Given the description of an element on the screen output the (x, y) to click on. 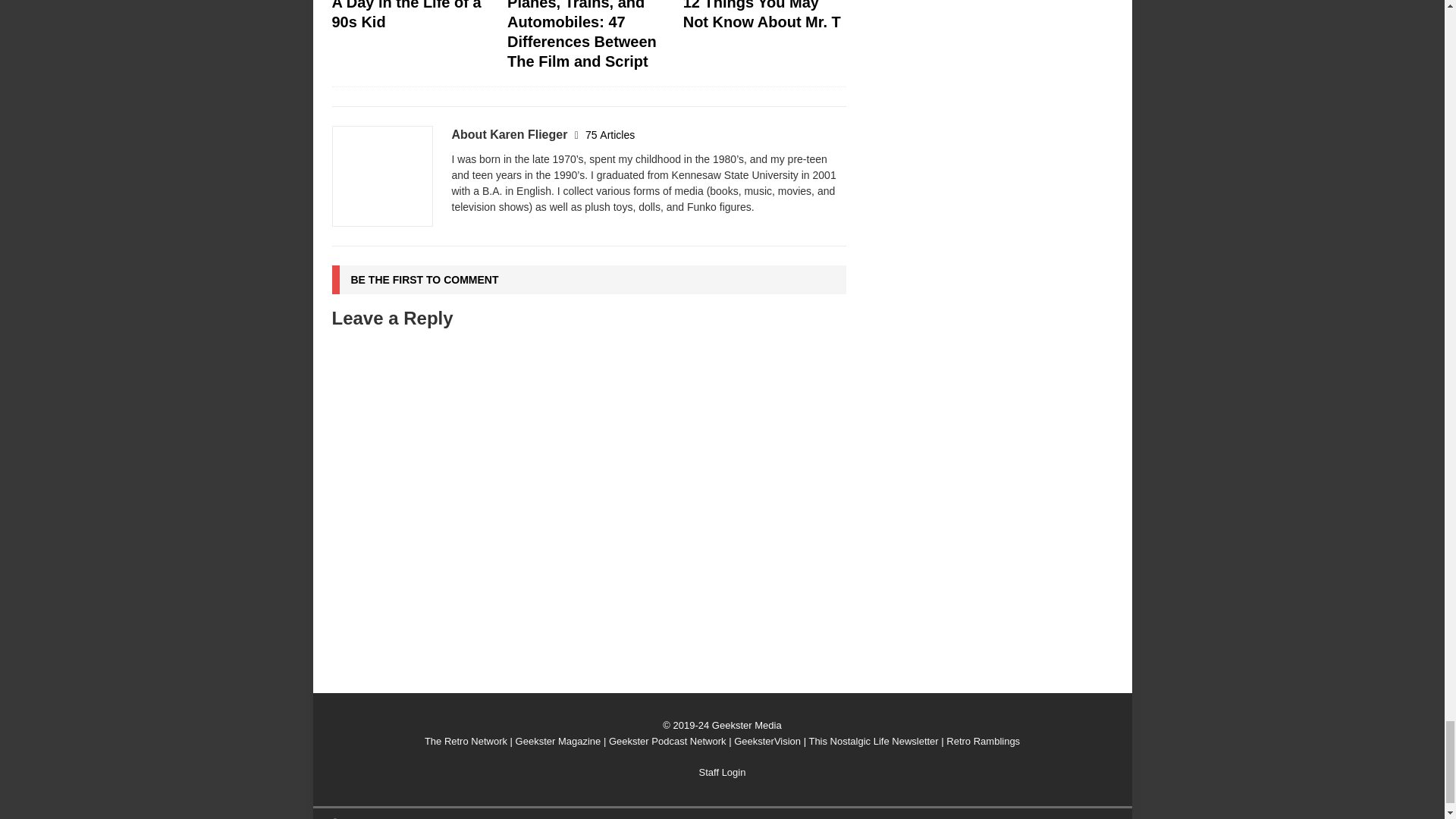
More articles written by Karen Flieger' (609, 134)
12 Things You May Not Know About Mr. T (761, 15)
A Day in the Life of a 90s Kid (406, 15)
